Given the description of an element on the screen output the (x, y) to click on. 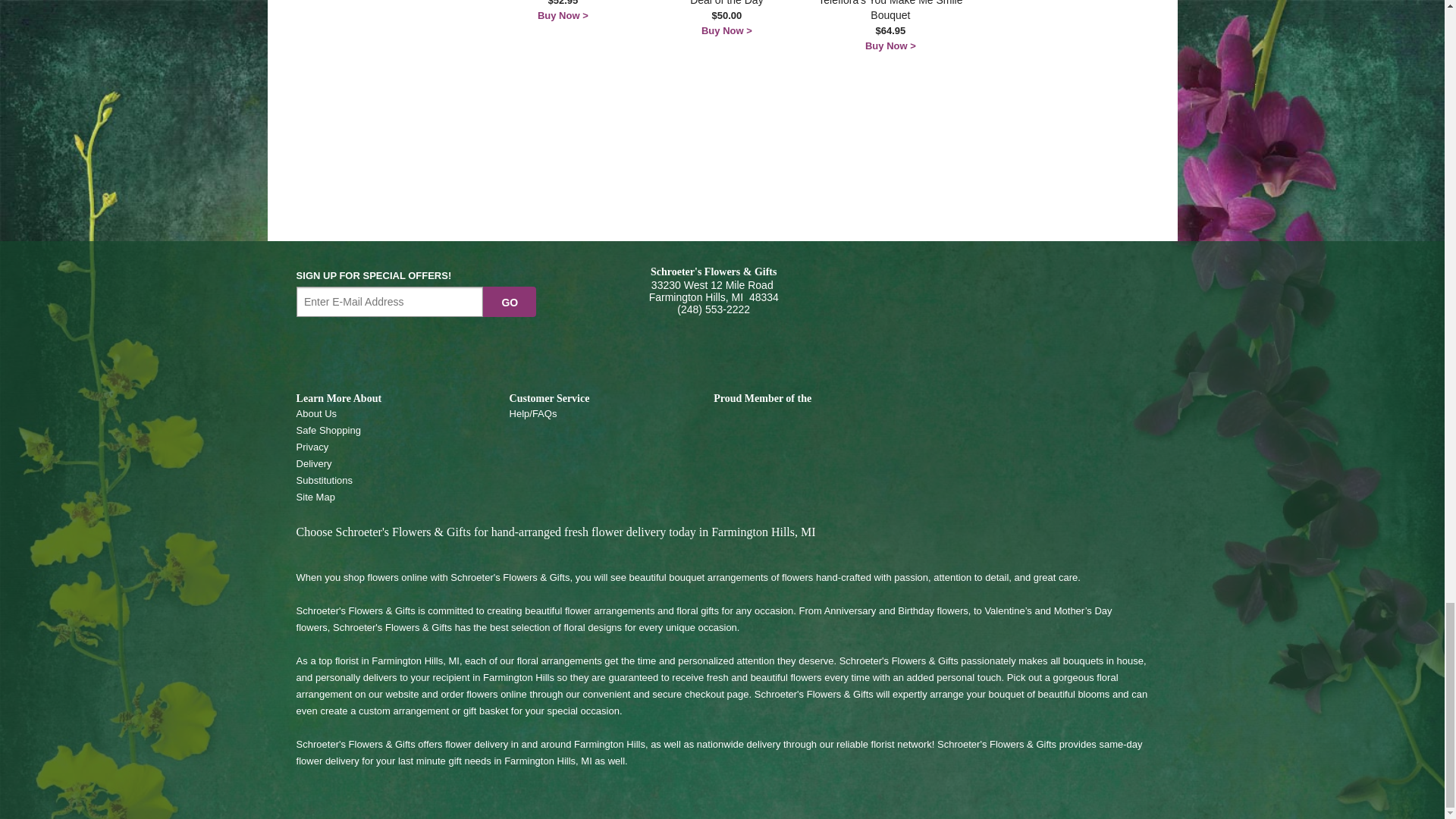
go (509, 301)
Email Sign up (390, 301)
Go (509, 301)
